Given the description of an element on the screen output the (x, y) to click on. 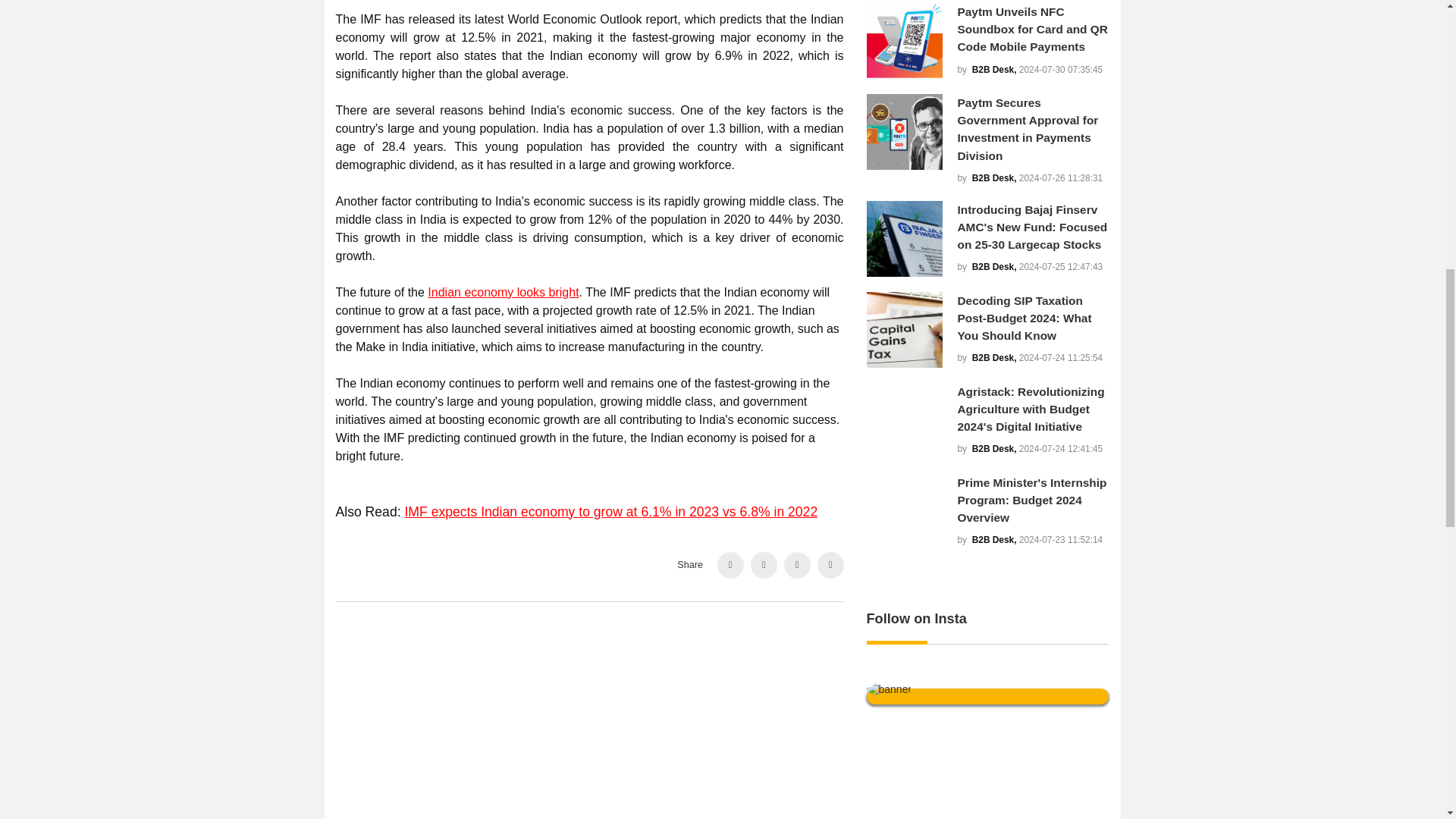
Indian economy looks bright (503, 291)
